Given the description of an element on the screen output the (x, y) to click on. 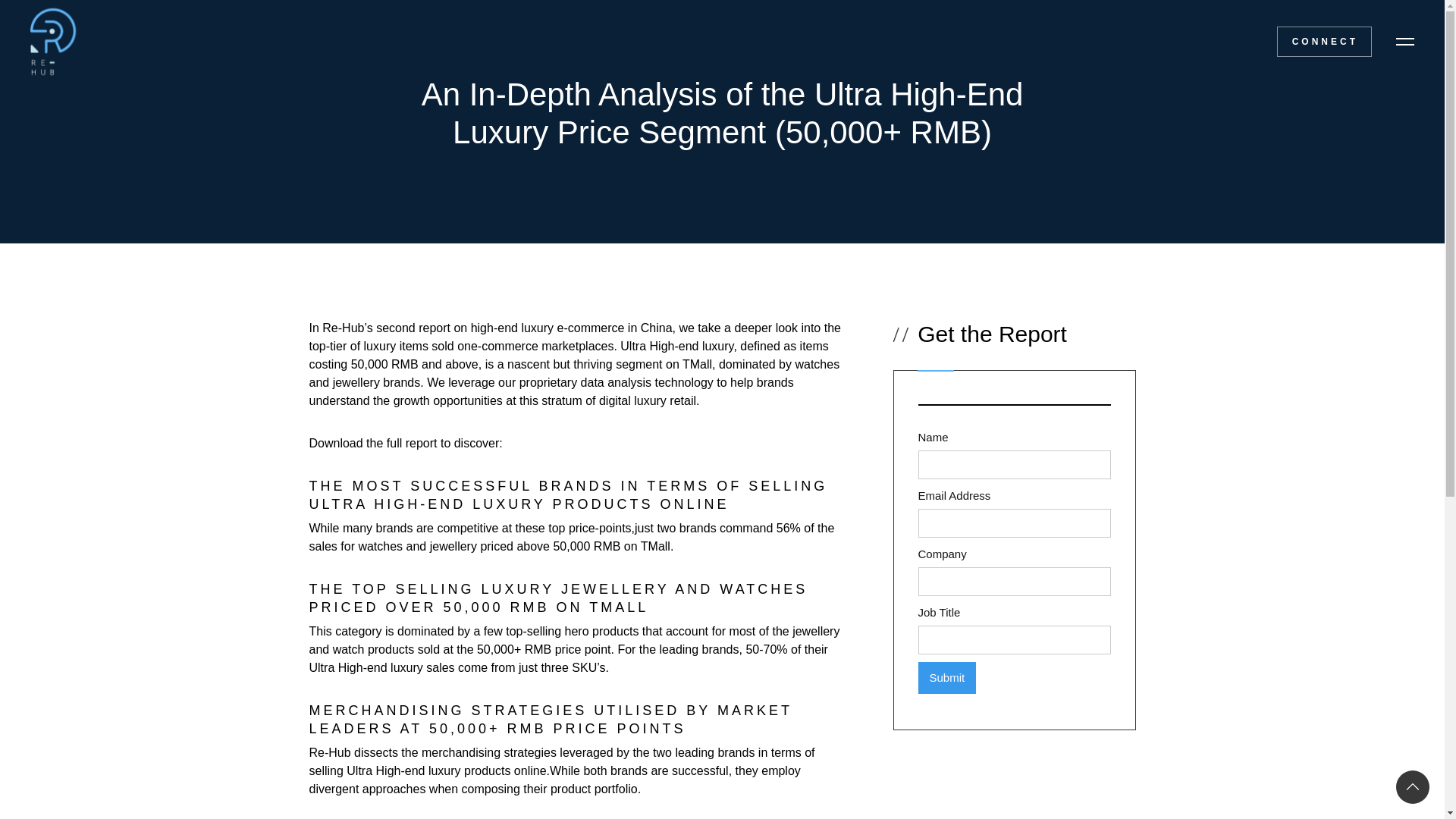
Submit (946, 677)
CONNECT (1323, 41)
Submit (946, 677)
